Given the description of an element on the screen output the (x, y) to click on. 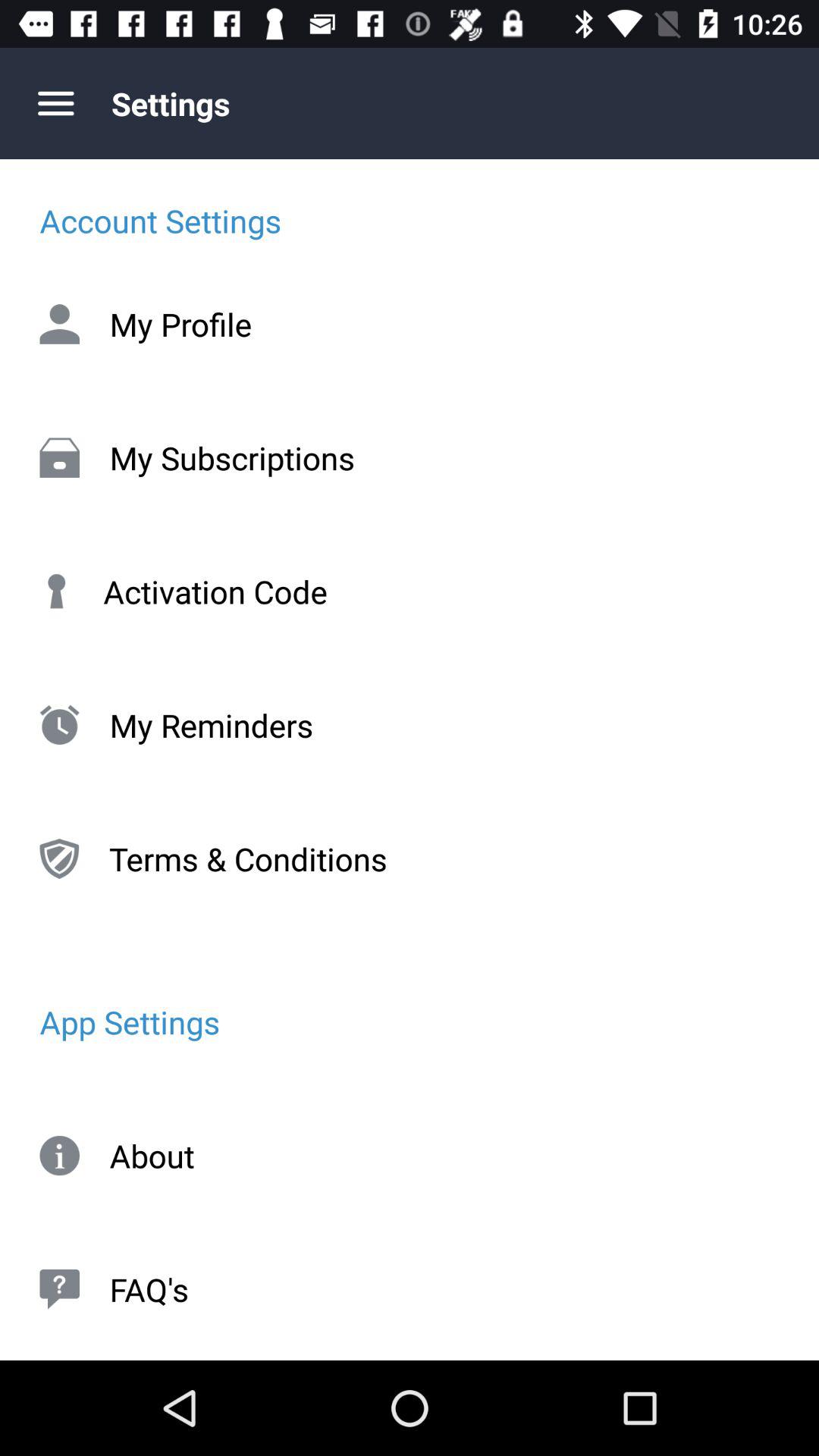
swipe to the my subscriptions item (409, 457)
